Given the description of an element on the screen output the (x, y) to click on. 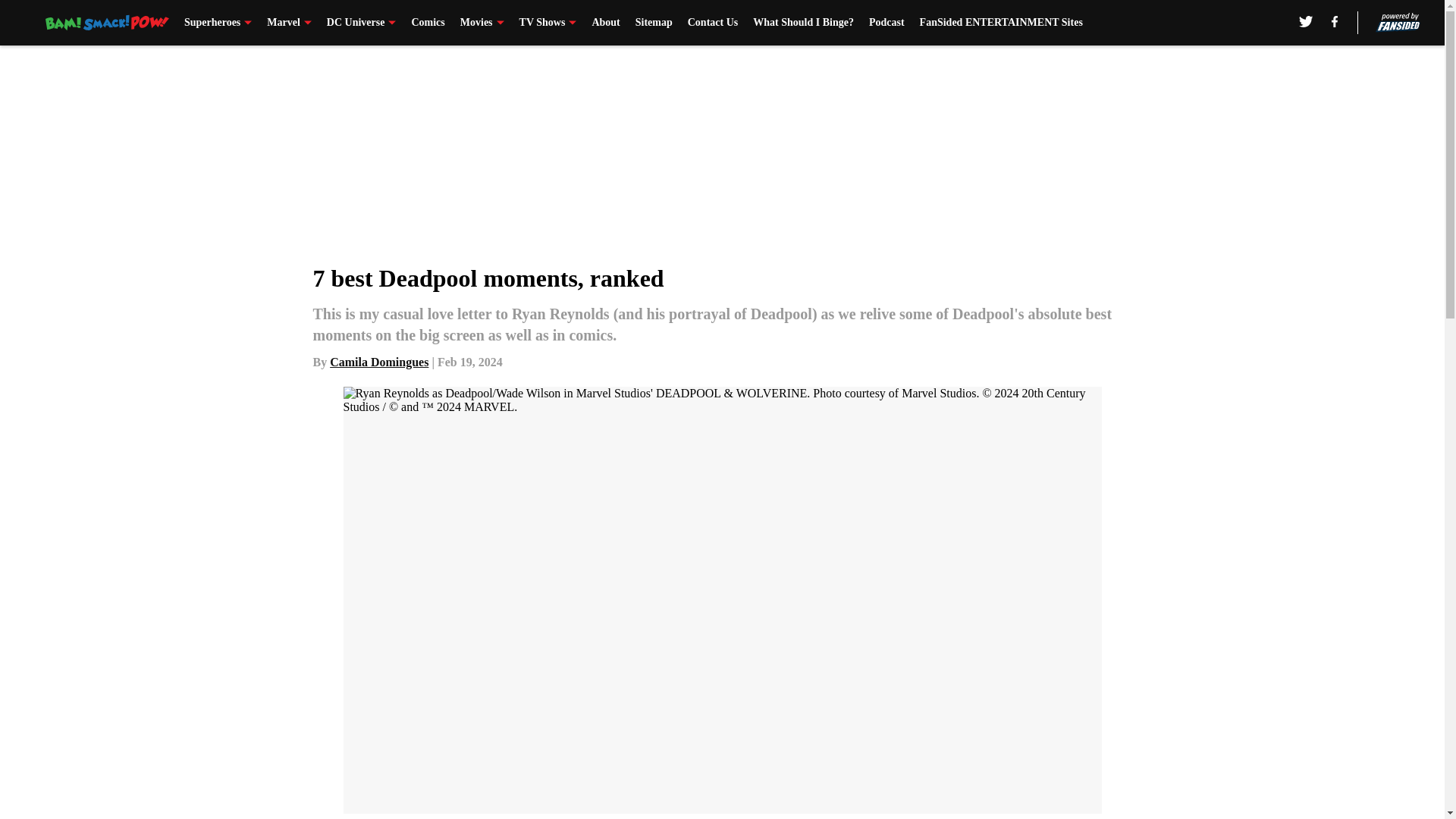
Movies (481, 22)
FanSided ENTERTAINMENT Sites (1001, 22)
What Should I Binge? (802, 22)
Camila Domingues (379, 361)
Podcast (886, 22)
Comics (427, 22)
About (605, 22)
Sitemap (653, 22)
Contact Us (712, 22)
